Given the description of an element on the screen output the (x, y) to click on. 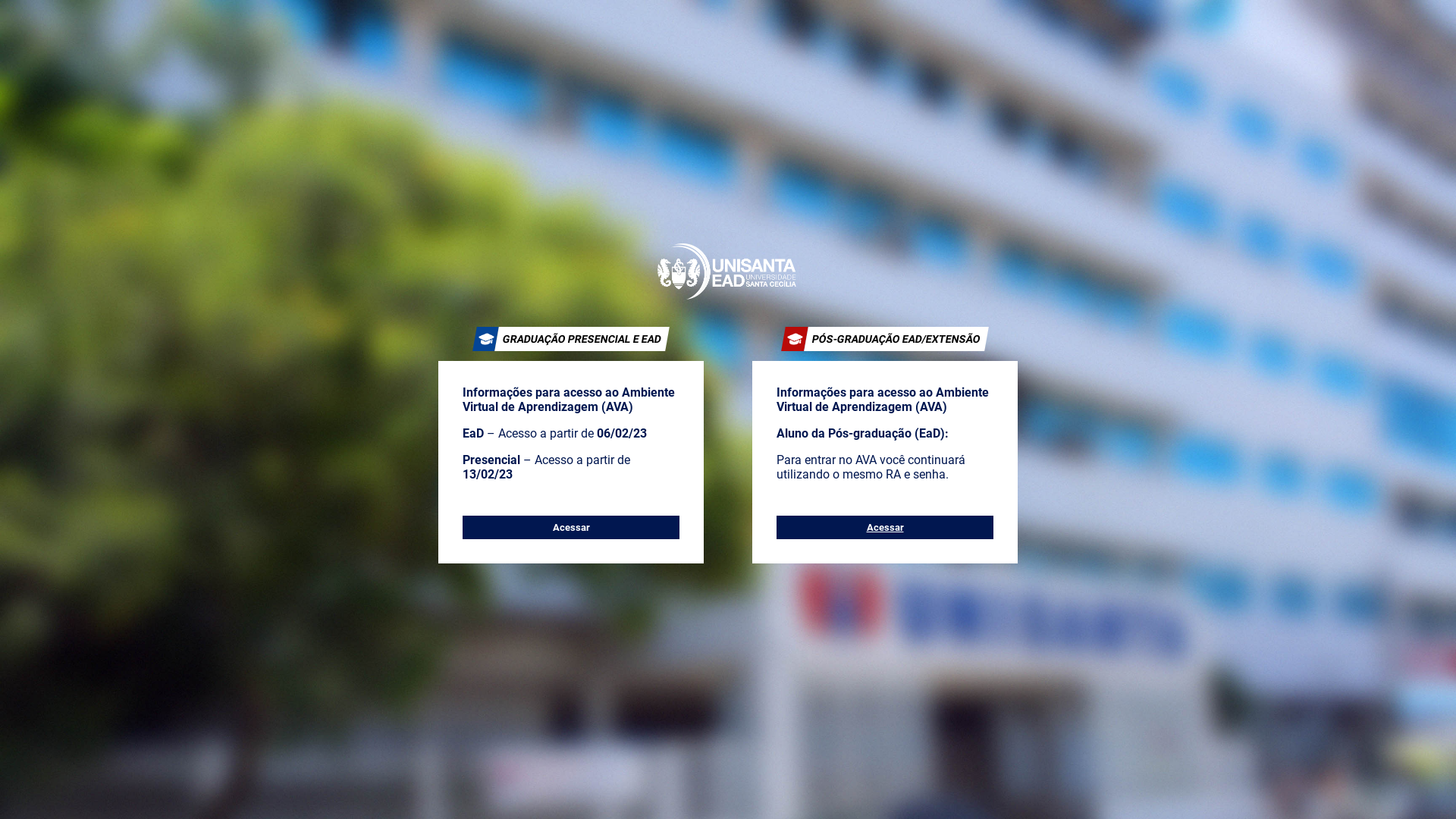
Acessar Element type: text (570, 527)
Acessar Element type: text (884, 527)
Acessar Element type: text (884, 527)
